Given the description of an element on the screen output the (x, y) to click on. 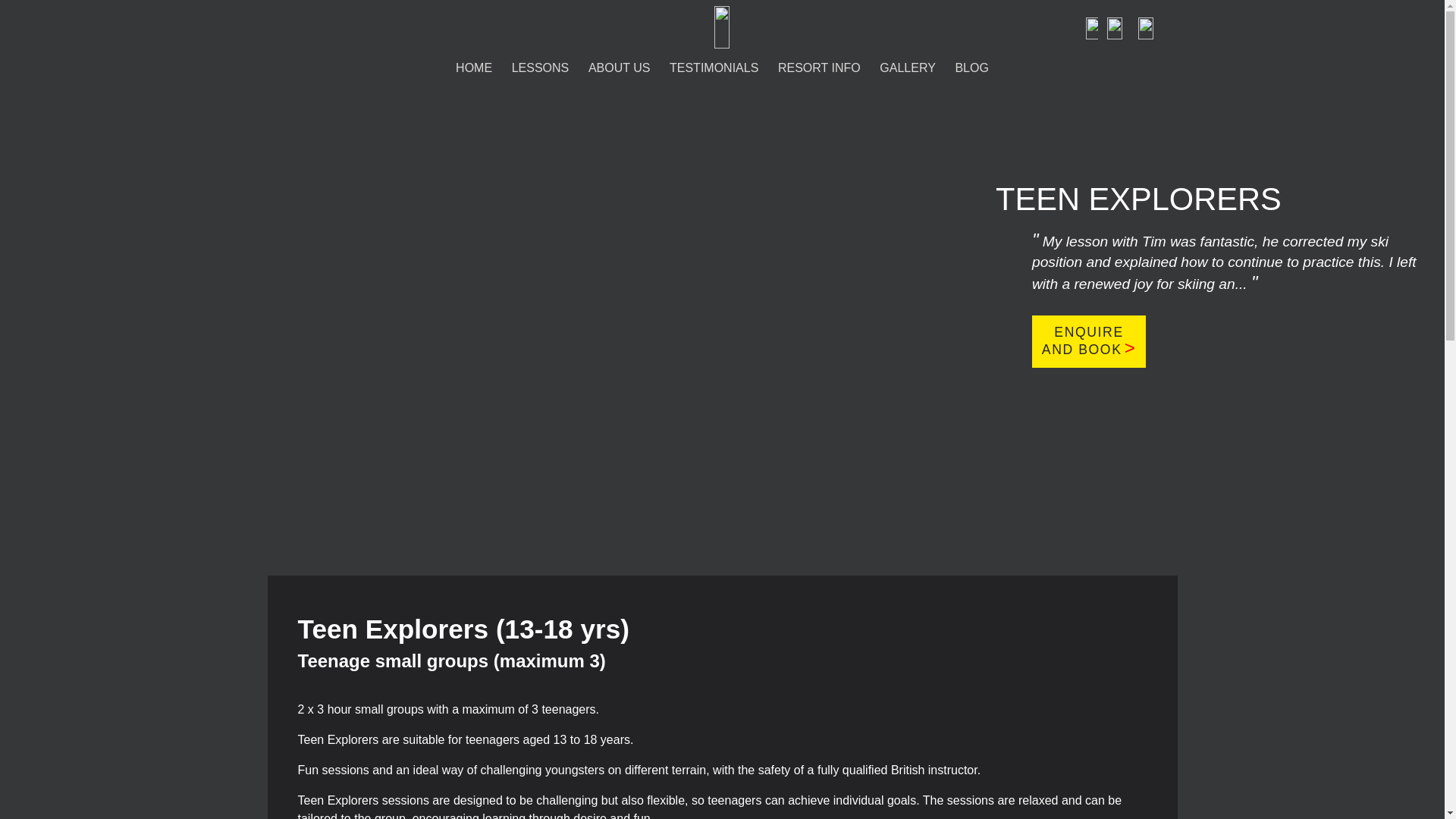
HOME (473, 68)
BLOG (971, 68)
TESTIMONIALS (713, 68)
